Given the description of an element on the screen output the (x, y) to click on. 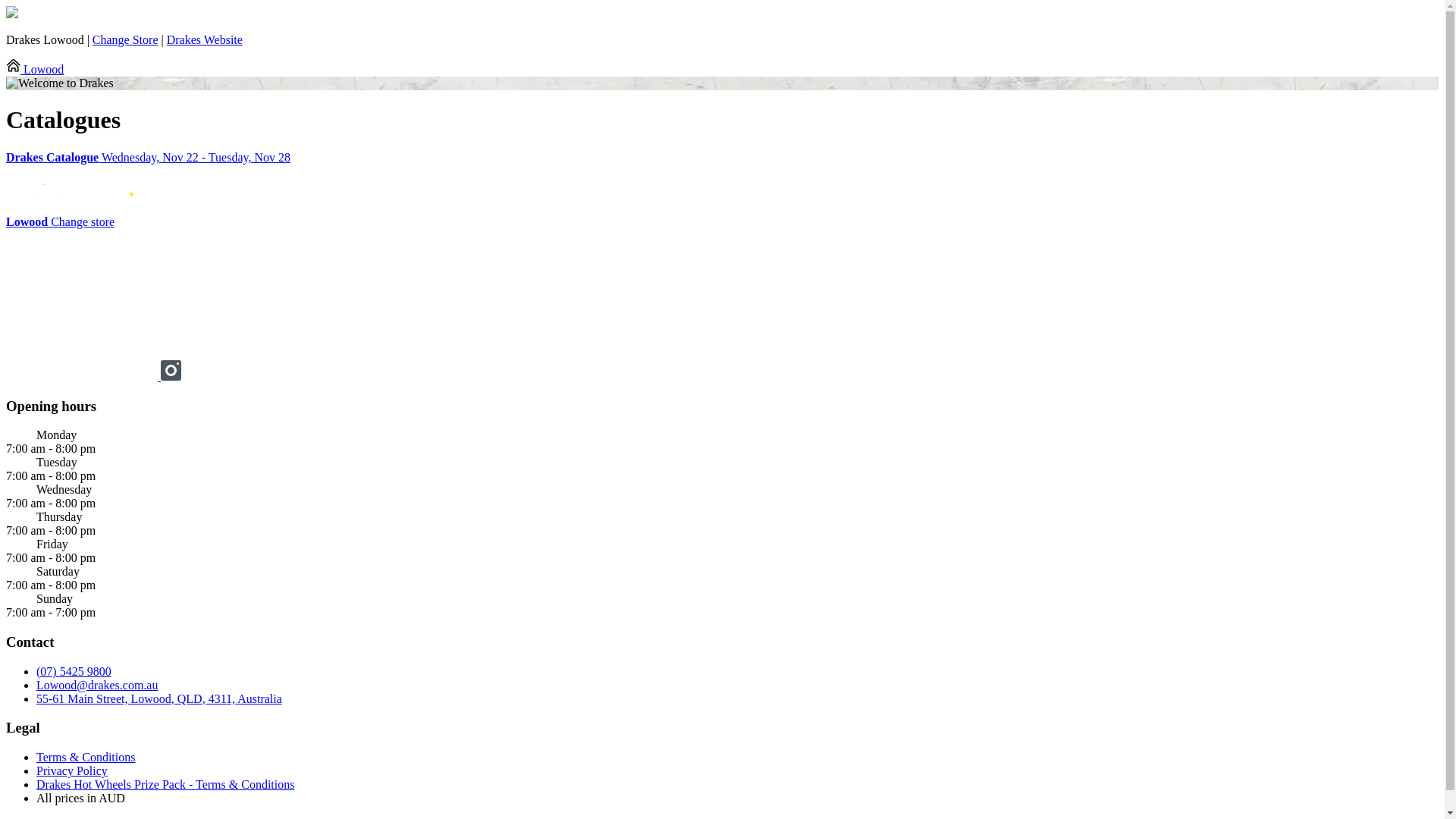
55-61 Main Street, Lowood, QLD, 4311, Australia Element type: text (159, 698)
(07) 5425 9800 Element type: text (73, 671)
Lowood Change store Element type: text (60, 221)
Instagram drakessupermarkets Element type: hover (170, 376)
Drakes Hot Wheels Prize Pack - Terms & Conditions Element type: text (165, 784)
Drakes Catalogue Wednesday, Nov 22 - Tuesday, Nov 28 Element type: text (722, 156)
Drakes Website Element type: text (204, 39)
Lowood Element type: text (34, 68)
Change Store Element type: text (125, 39)
Facebook Element type: hover (83, 376)
Lowood@drakes.com.au Element type: text (96, 684)
Terms & Conditions Element type: text (85, 756)
Privacy Policy Element type: text (71, 770)
